Given the description of an element on the screen output the (x, y) to click on. 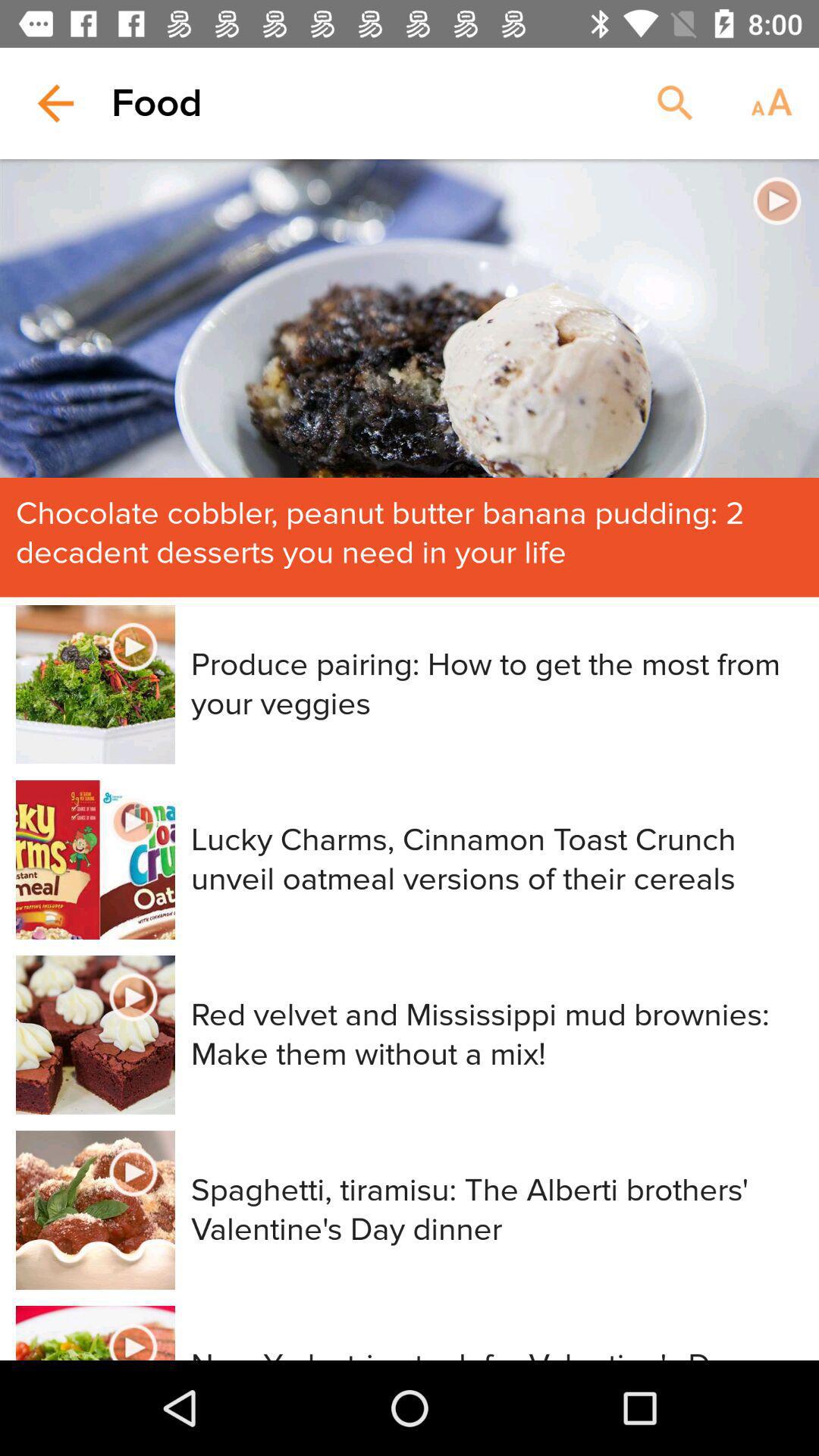
click on the third play option (133, 821)
click on the image beside produce pairing (95, 684)
click on the second video button on the page (133, 646)
click the play button from the third row image (133, 997)
click the play button from the top right (777, 200)
click on the last video at bottom left corner (95, 1332)
click on the play icon on the 3rd image from the bottom (133, 997)
